Given the description of an element on the screen output the (x, y) to click on. 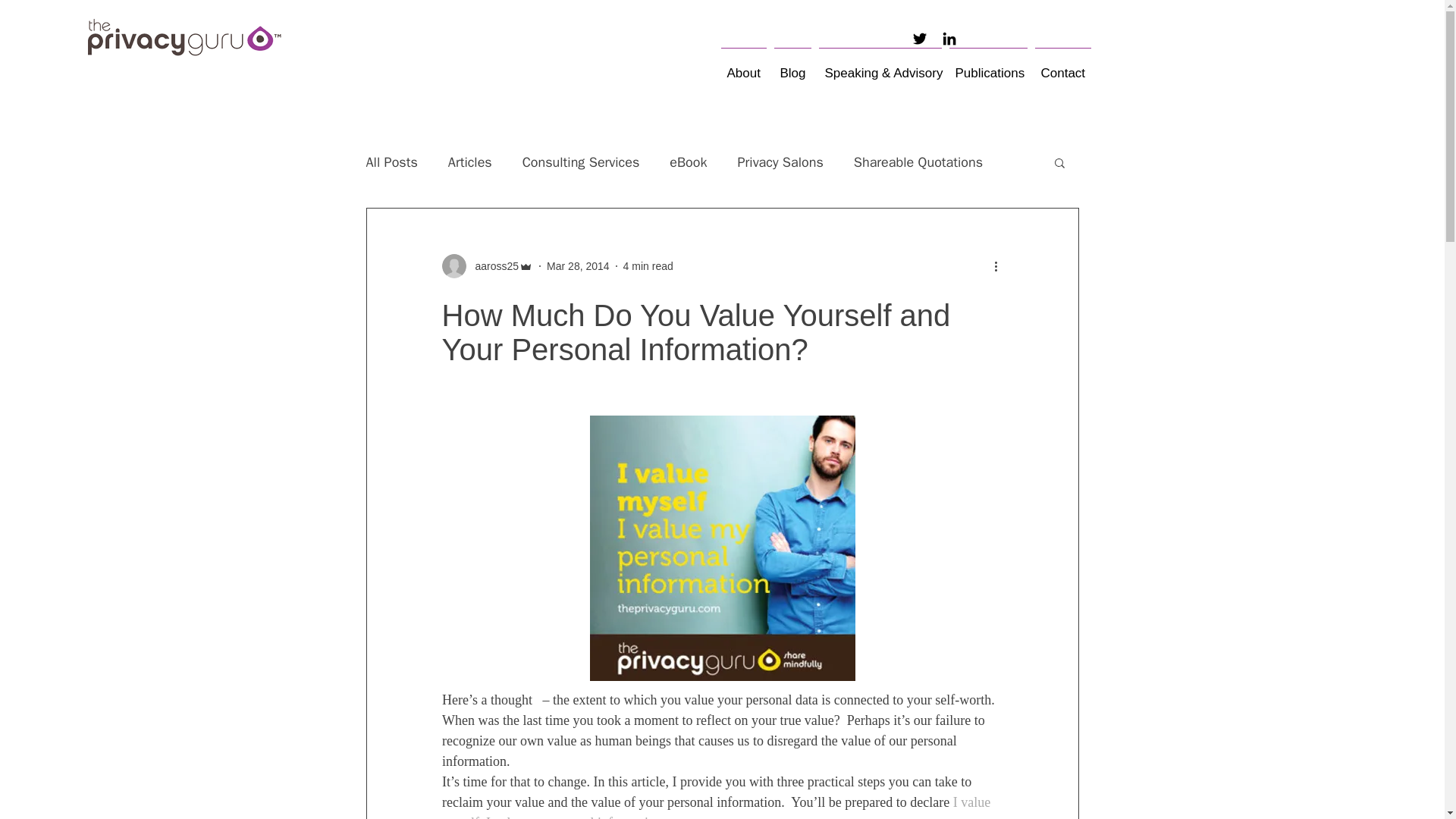
eBook (687, 162)
Blog (792, 66)
About (743, 66)
Mar 28, 2014 (578, 265)
Articles (470, 162)
Contact (1062, 66)
Consulting Services (581, 162)
aaross25 (491, 265)
4 min read (647, 265)
Privacy Salons (781, 162)
aaross25 (486, 265)
All Posts (390, 162)
Shareable Quotations (917, 162)
I value myself, I value my personal information. (716, 806)
